Given the description of an element on the screen output the (x, y) to click on. 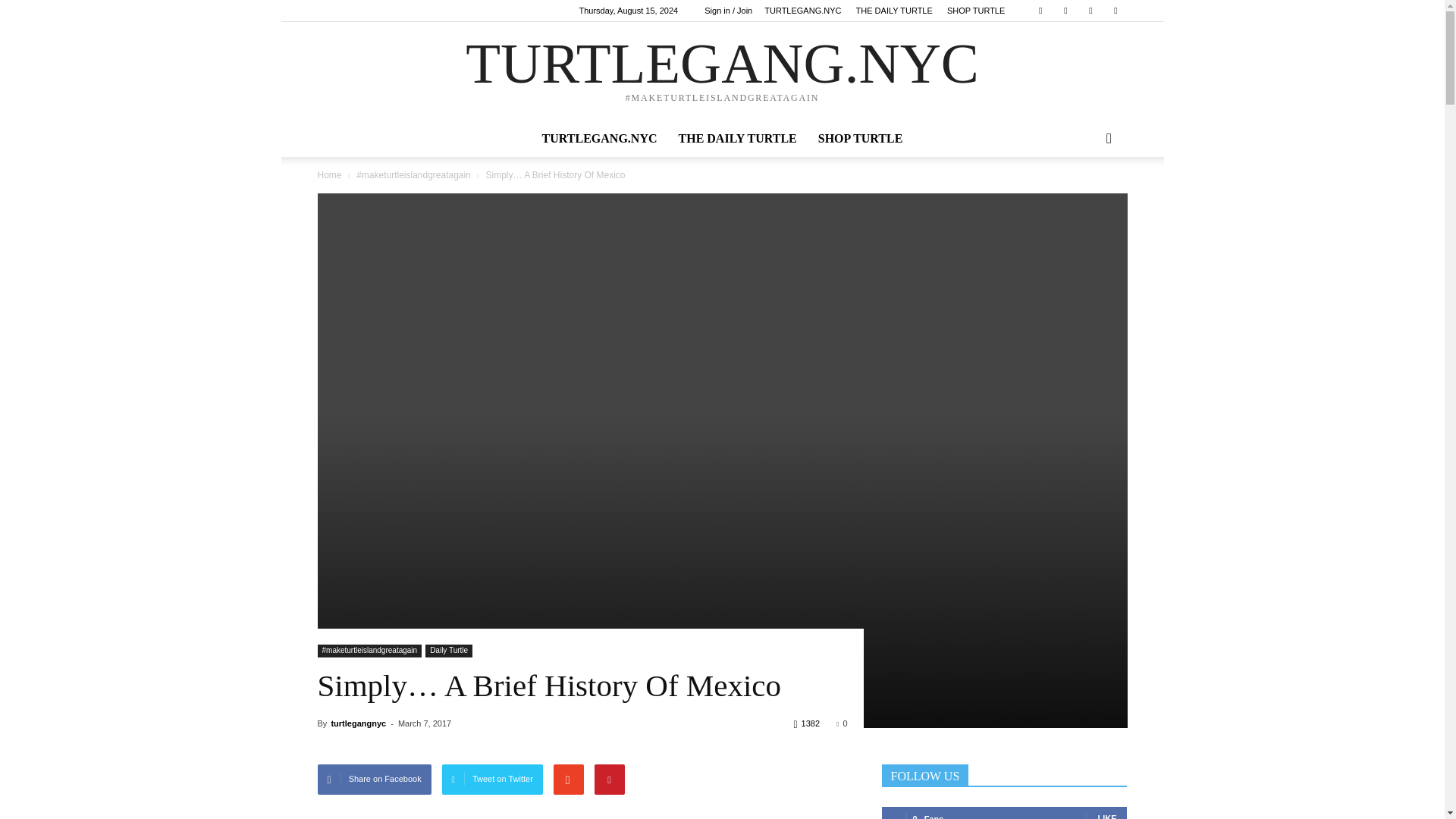
TURTLEGANG.NYC (599, 138)
THE DAILY TURTLE (894, 10)
Instagram (1065, 10)
Youtube (1114, 10)
SHOP TURTLE (861, 138)
TURTLEGANG.NYC (802, 10)
SHOP TURTLE (975, 10)
Facebook (1040, 10)
THE DAILY TURTLE (738, 138)
Home (330, 174)
